Given the description of an element on the screen output the (x, y) to click on. 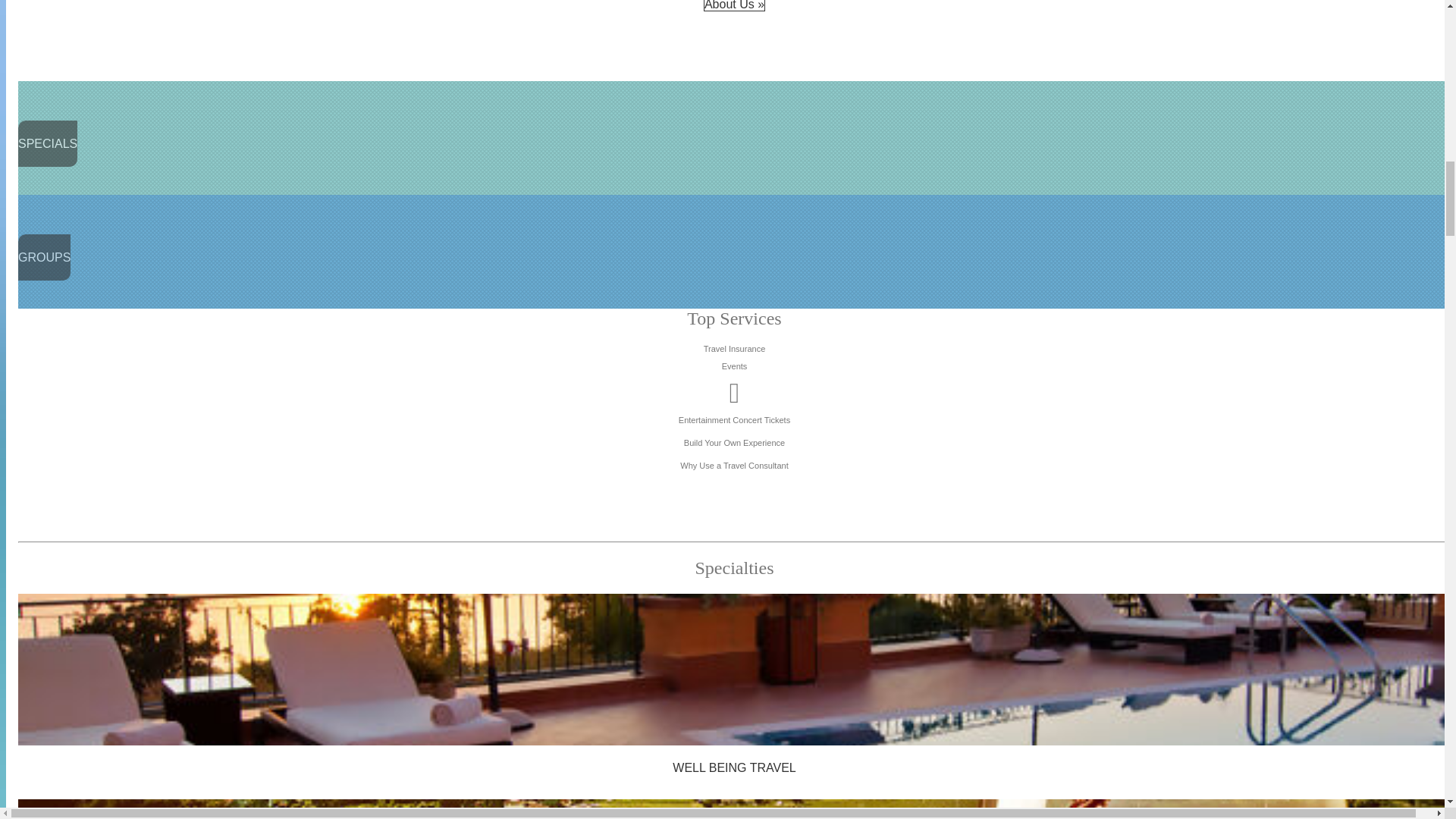
Entertainment Concert Tickets (733, 409)
CULINARY ADVENTURE (733, 809)
